Given the description of an element on the screen output the (x, y) to click on. 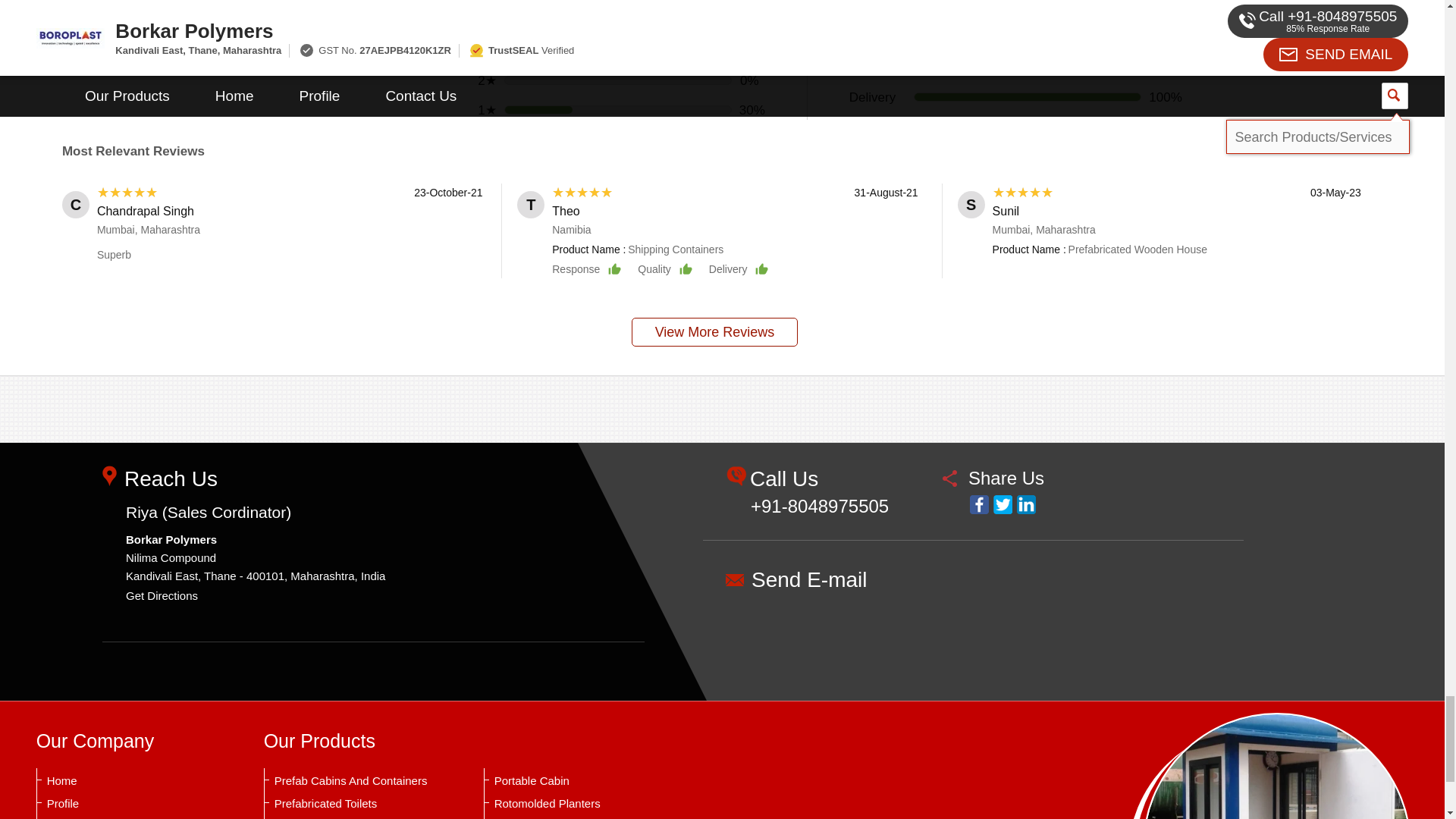
3.6 out of 5 Votes (286, 3)
